Given the description of an element on the screen output the (x, y) to click on. 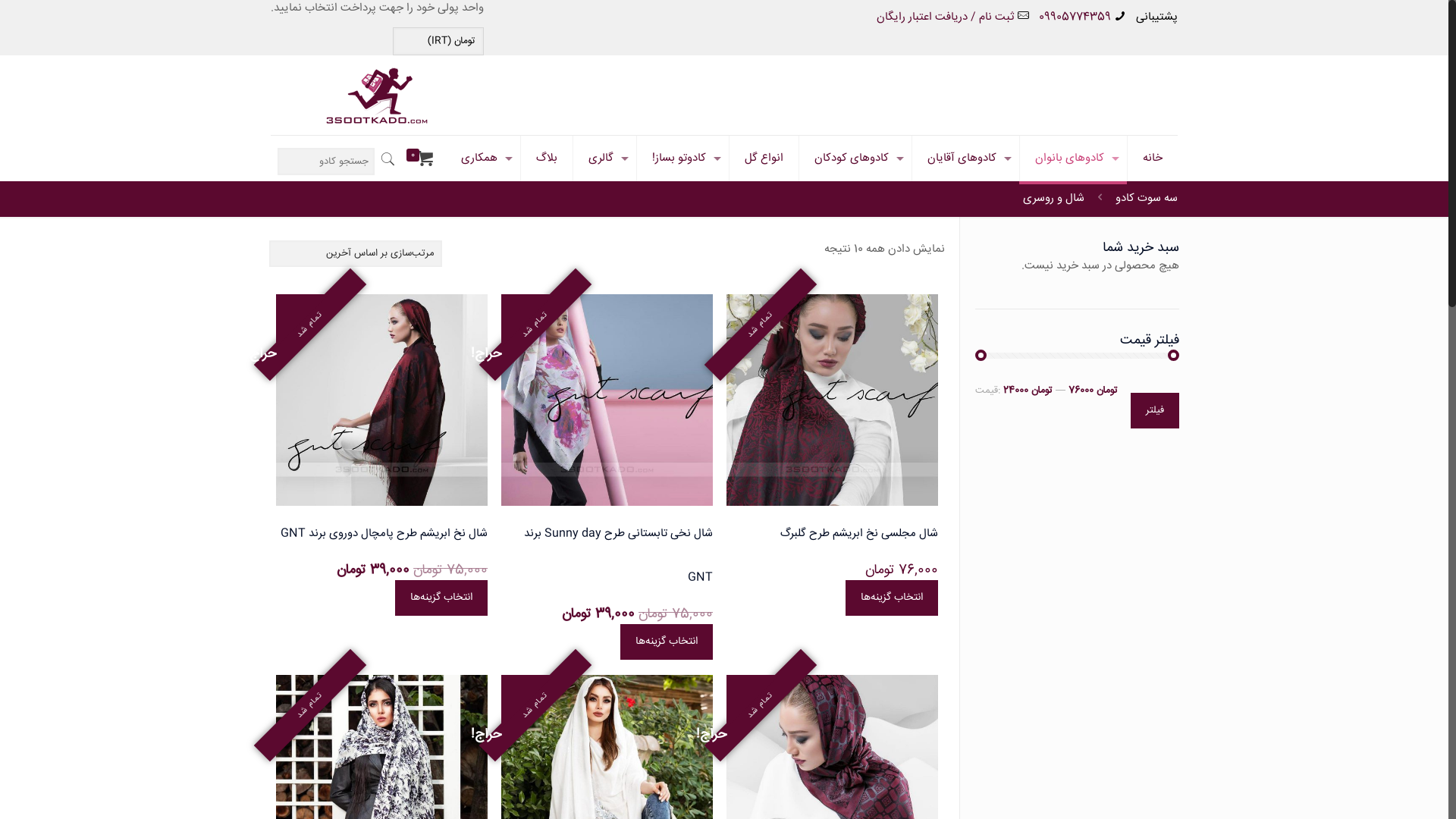
09905774359 Element type: text (1074, 16)
0 Element type: text (418, 159)
